Given the description of an element on the screen output the (x, y) to click on. 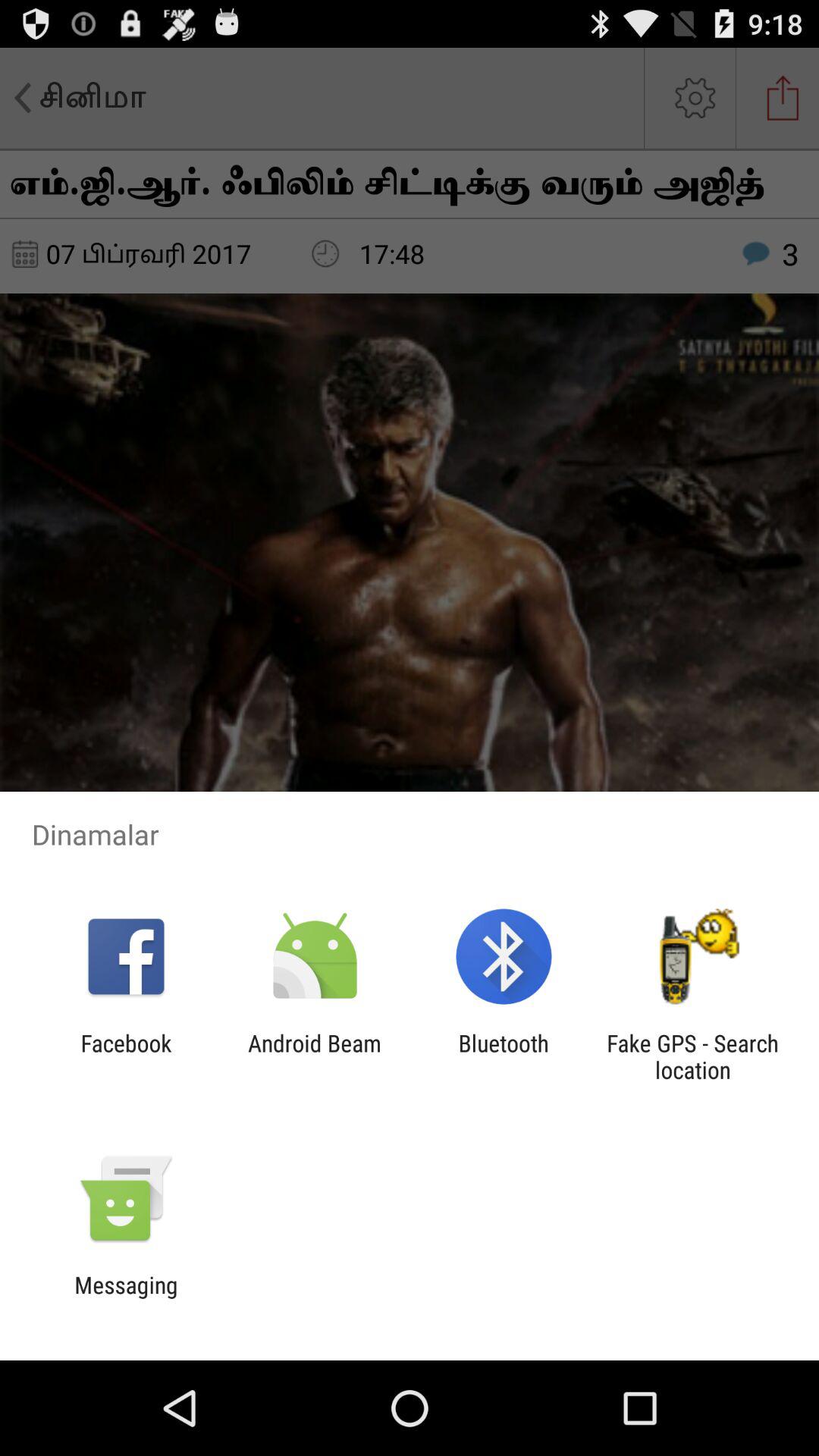
open the app next to facebook icon (314, 1056)
